Given the description of an element on the screen output the (x, y) to click on. 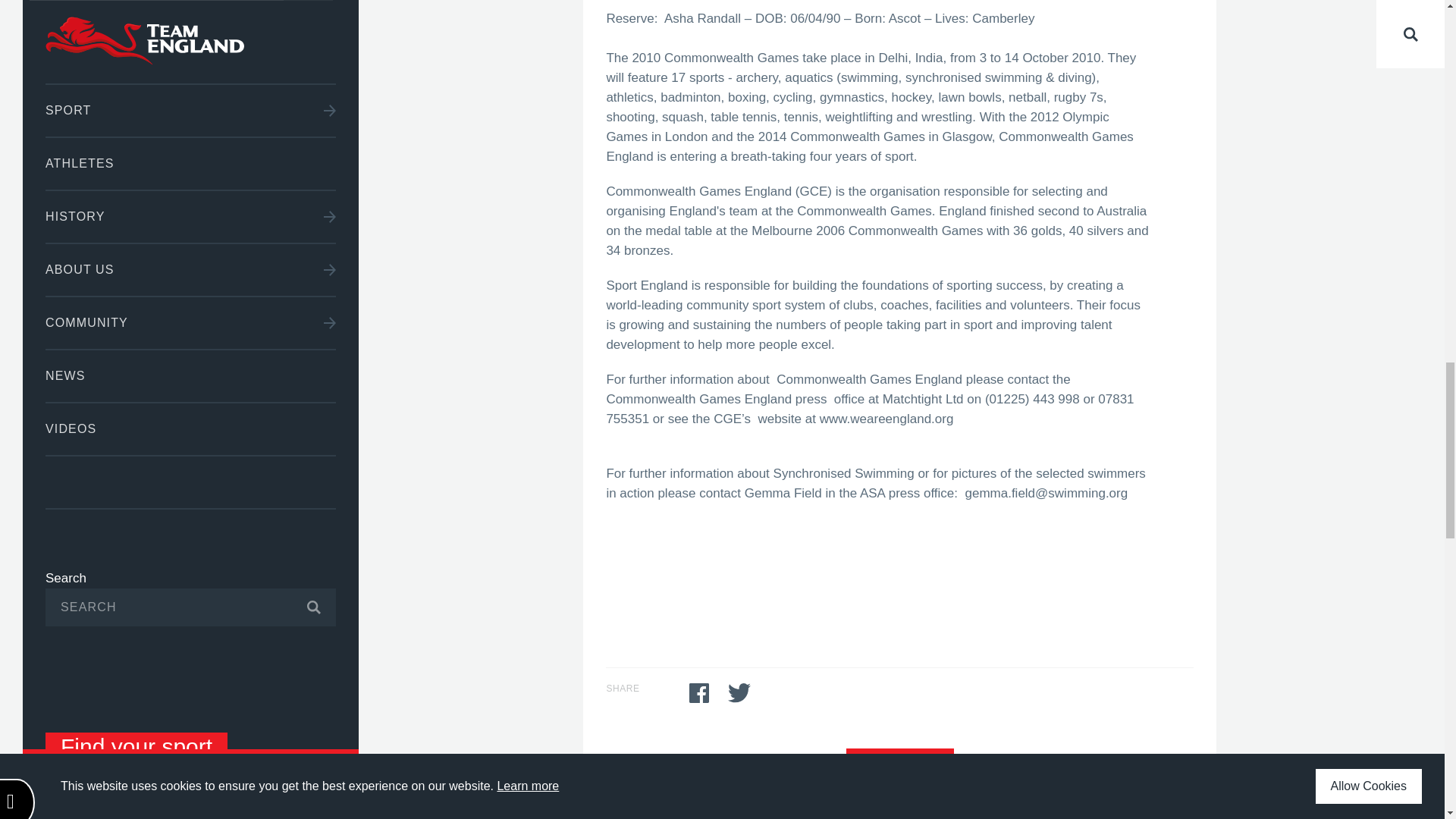
Share on Twitter (739, 692)
Share on Facebook (698, 692)
